Given the description of an element on the screen output the (x, y) to click on. 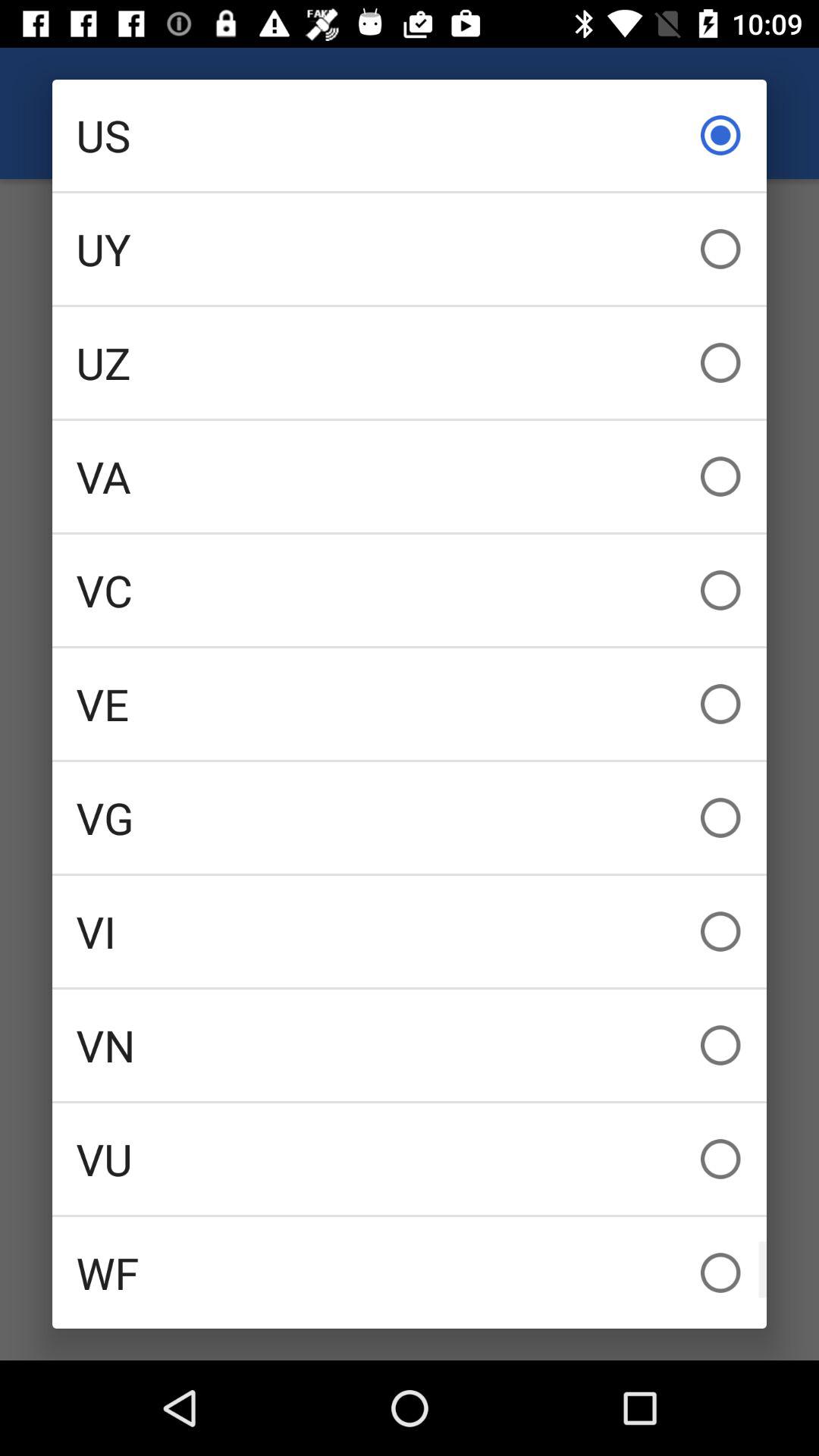
flip until uz icon (409, 362)
